Given the description of an element on the screen output the (x, y) to click on. 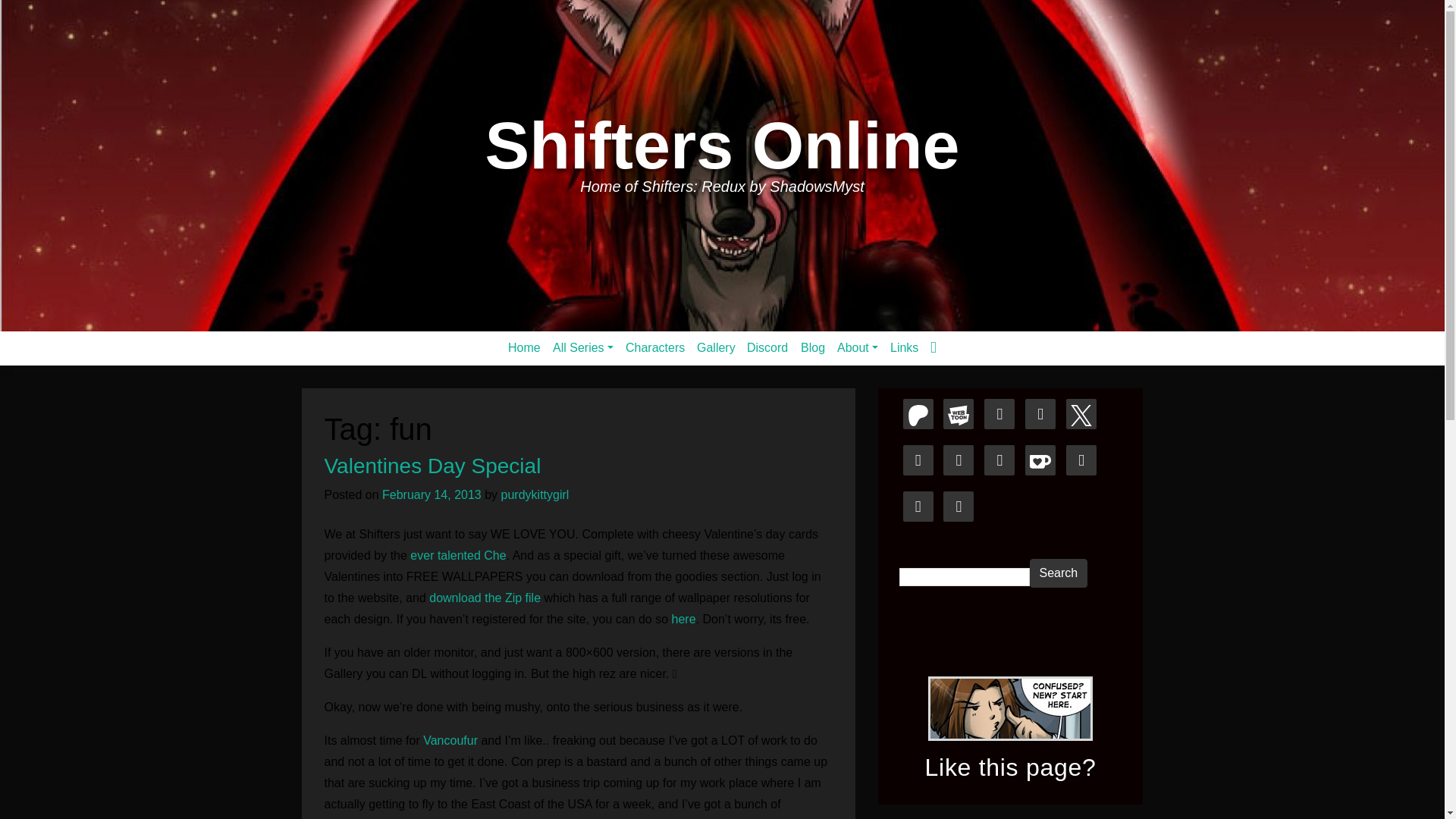
Links (903, 347)
Blog (812, 347)
Gallery (715, 347)
Home (524, 347)
Gallery (715, 347)
Characters (655, 347)
All Series (583, 347)
Discord (767, 347)
February 14, 2013 (431, 494)
ever talented Che (456, 554)
